Given the description of an element on the screen output the (x, y) to click on. 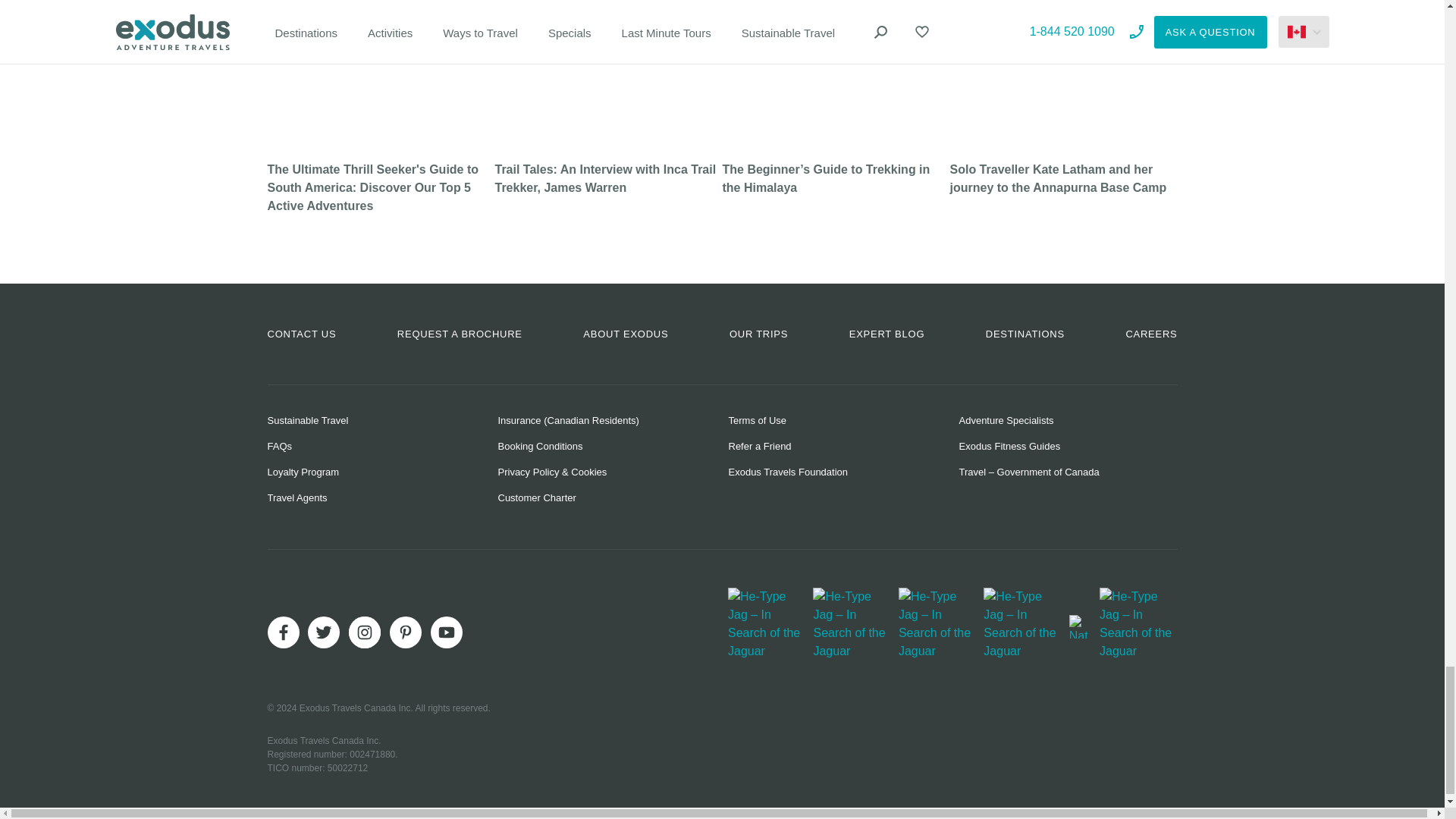
facebook (282, 632)
pinterest (406, 632)
twitter (323, 632)
youtube (446, 632)
instagram (364, 632)
